Given the description of an element on the screen output the (x, y) to click on. 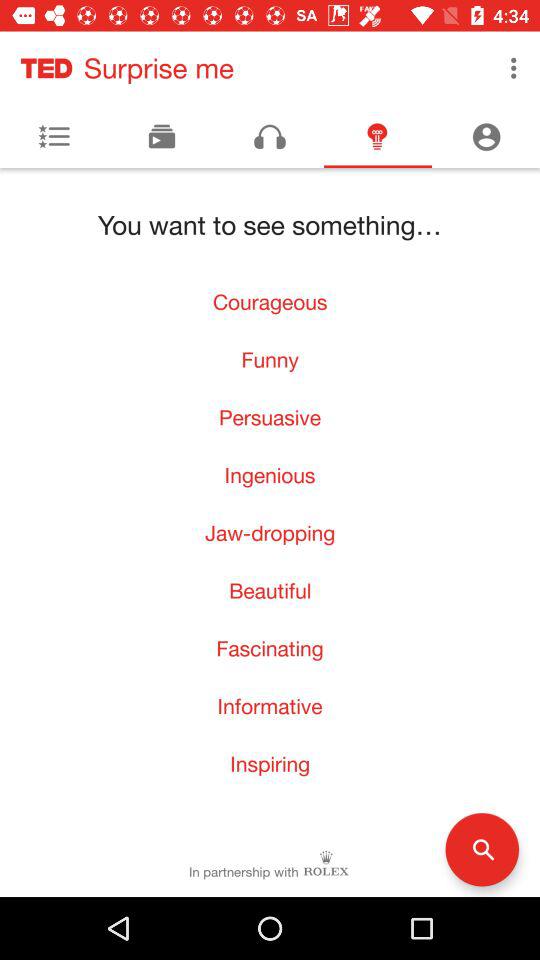
select the icon above the funny icon (270, 301)
